Given the description of an element on the screen output the (x, y) to click on. 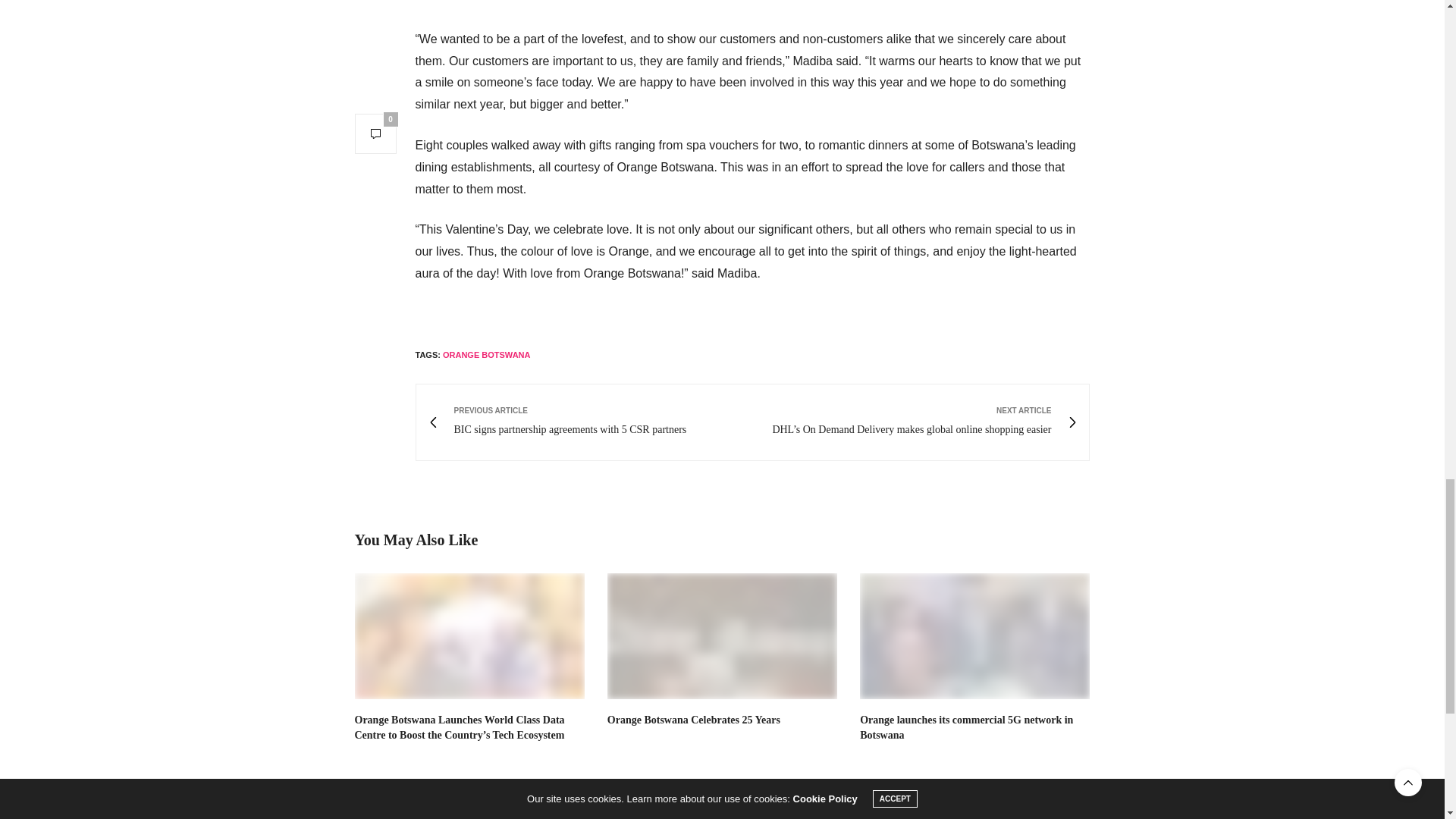
Orange Botswana Celebrates 25 Years (693, 719)
Orange Botswana Celebrates 25 Years (722, 636)
Orange launches its commercial 5G network in Botswana (966, 727)
Orange launches its commercial 5G network in Botswana (974, 636)
ORANGE BOTSWANA (486, 354)
Orange Botswana Celebrates 25 Years (693, 719)
Orange launches its commercial 5G network in Botswana (966, 727)
